Given the description of an element on the screen output the (x, y) to click on. 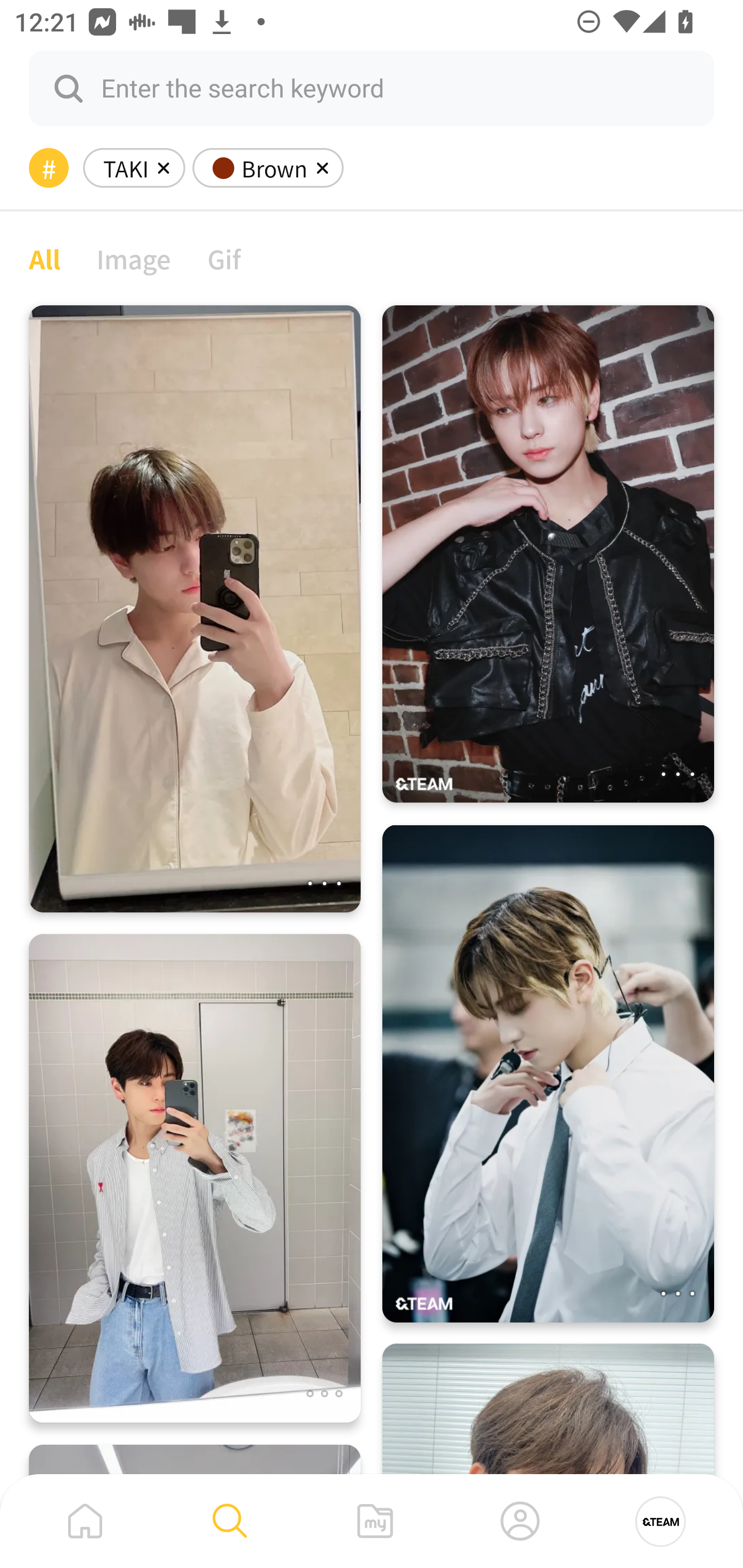
All (44, 257)
Image (133, 257)
Gif (223, 257)
